Given the description of an element on the screen output the (x, y) to click on. 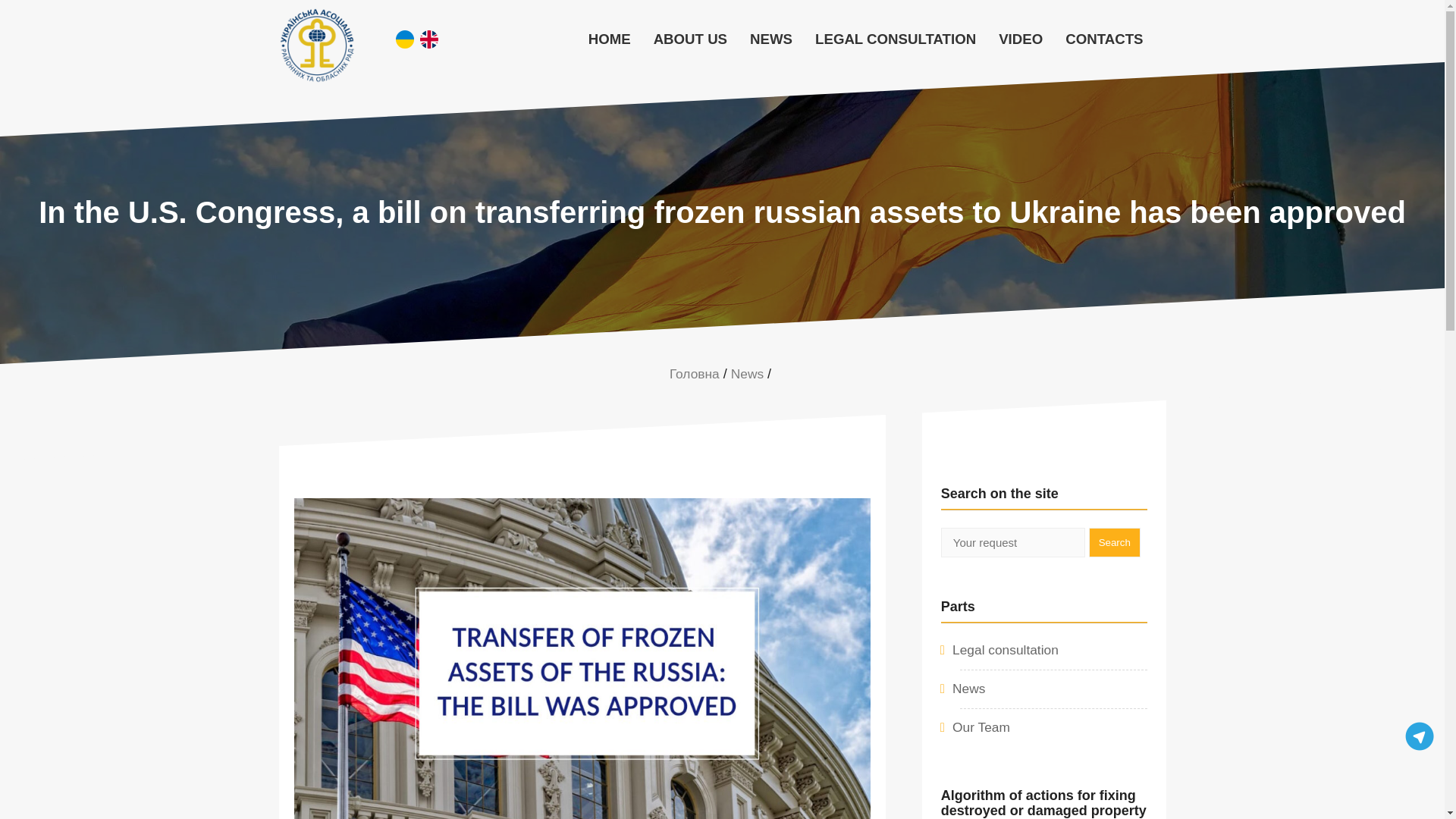
NEWS (770, 39)
Our Team (981, 726)
Search (1114, 542)
ABOUT US (689, 39)
VIDEO (1020, 39)
News (968, 688)
Legal consultation (1005, 649)
HOME (609, 39)
CONTACTS (1103, 39)
Search (1114, 542)
News (746, 373)
LEGAL CONSULTATION (895, 39)
